Given the description of an element on the screen output the (x, y) to click on. 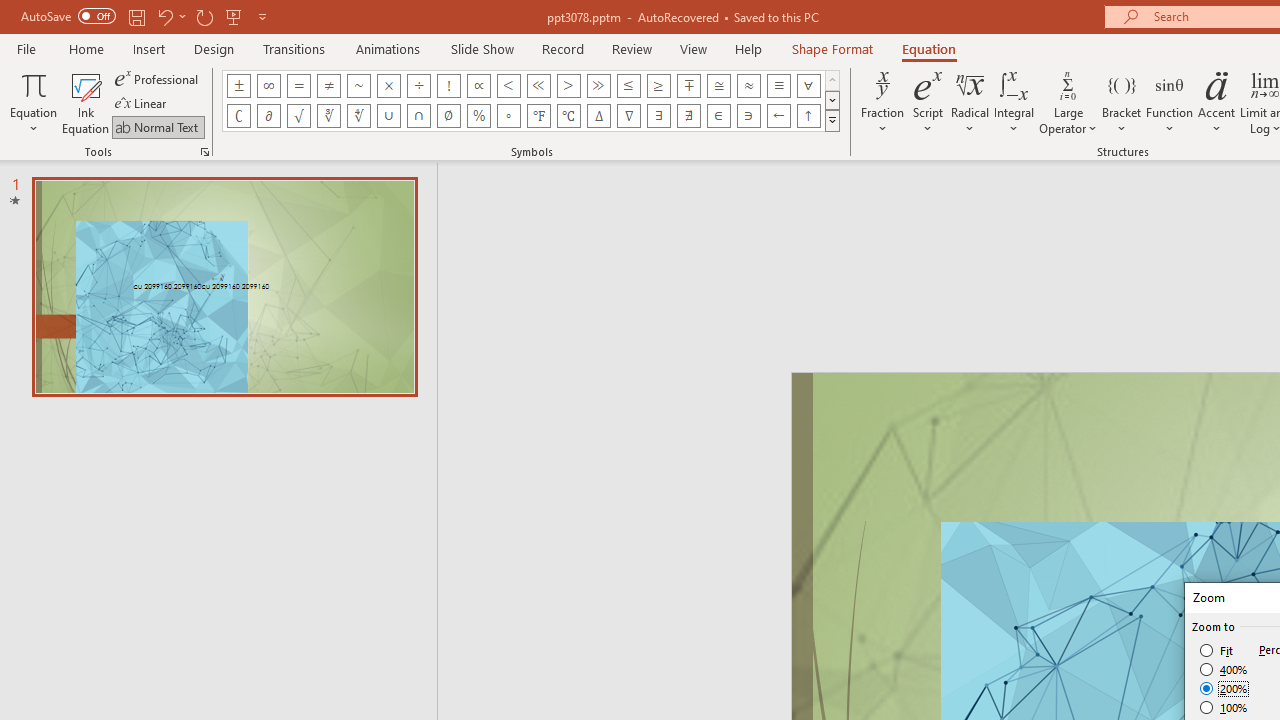
Equation Symbol Much Less Than (538, 85)
Equation Symbol Left Arrow (778, 115)
Equation Symbol Fourth Root (358, 115)
Equation Symbol Union (388, 115)
Equation Symbol Proportional To (478, 85)
400% (1224, 669)
Equation Symbol Infinity (268, 85)
Bracket (1121, 102)
Equation Symbol Greater Than or Equal To (658, 85)
Equation Symbol Intersection (418, 115)
Equation Symbol Division Sign (418, 85)
Equation Symbol Empty Set (448, 115)
